Given the description of an element on the screen output the (x, y) to click on. 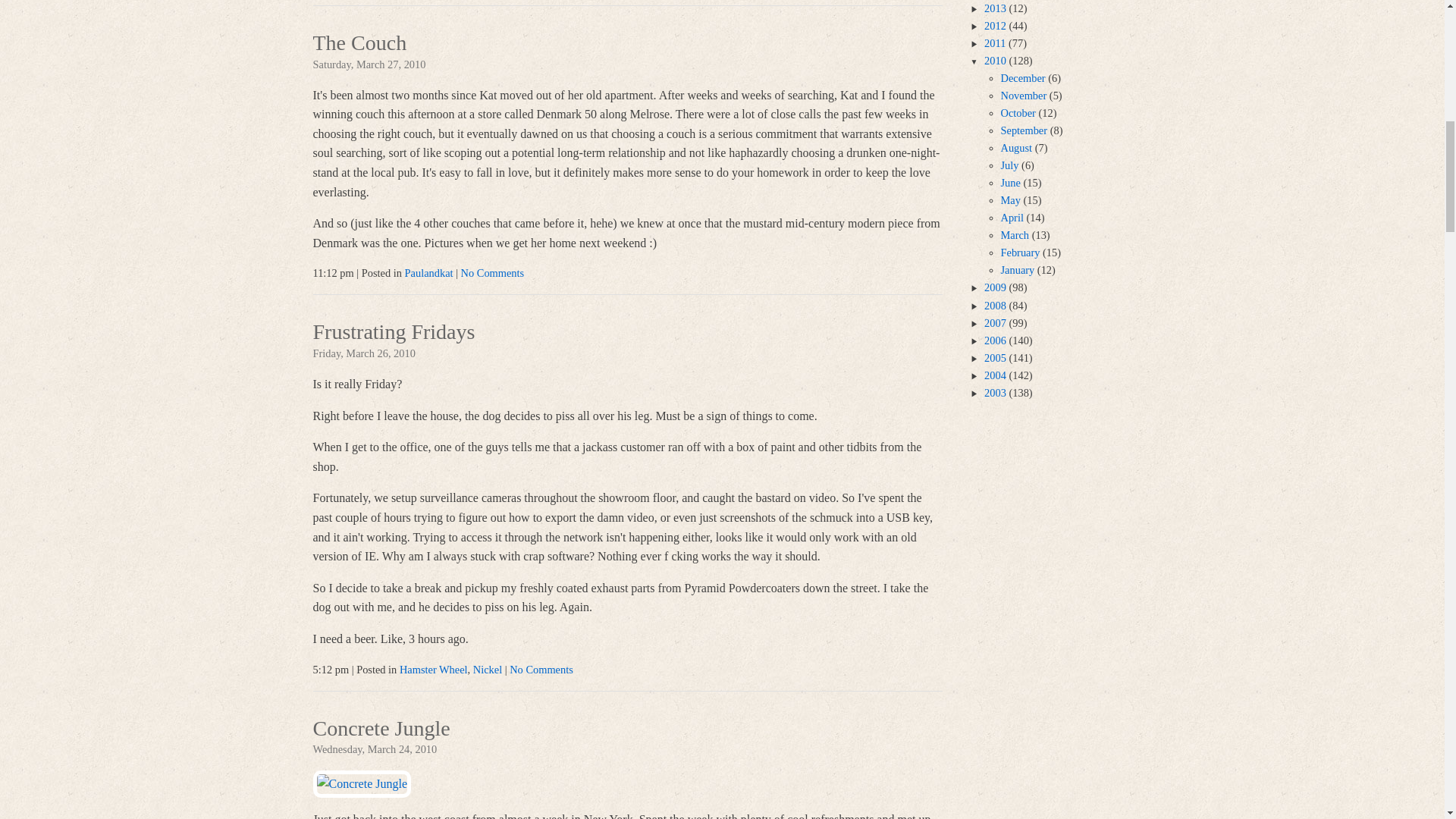
The Couch (359, 44)
Concrete Jungle (381, 729)
No Comments (541, 669)
Concrete Jungle by lovine, on Flickr (361, 783)
Hamster Wheel (432, 669)
Nickel (487, 669)
Paulandkat (428, 272)
Frustrating Fridays (393, 333)
No Comments (492, 272)
